Given the description of an element on the screen output the (x, y) to click on. 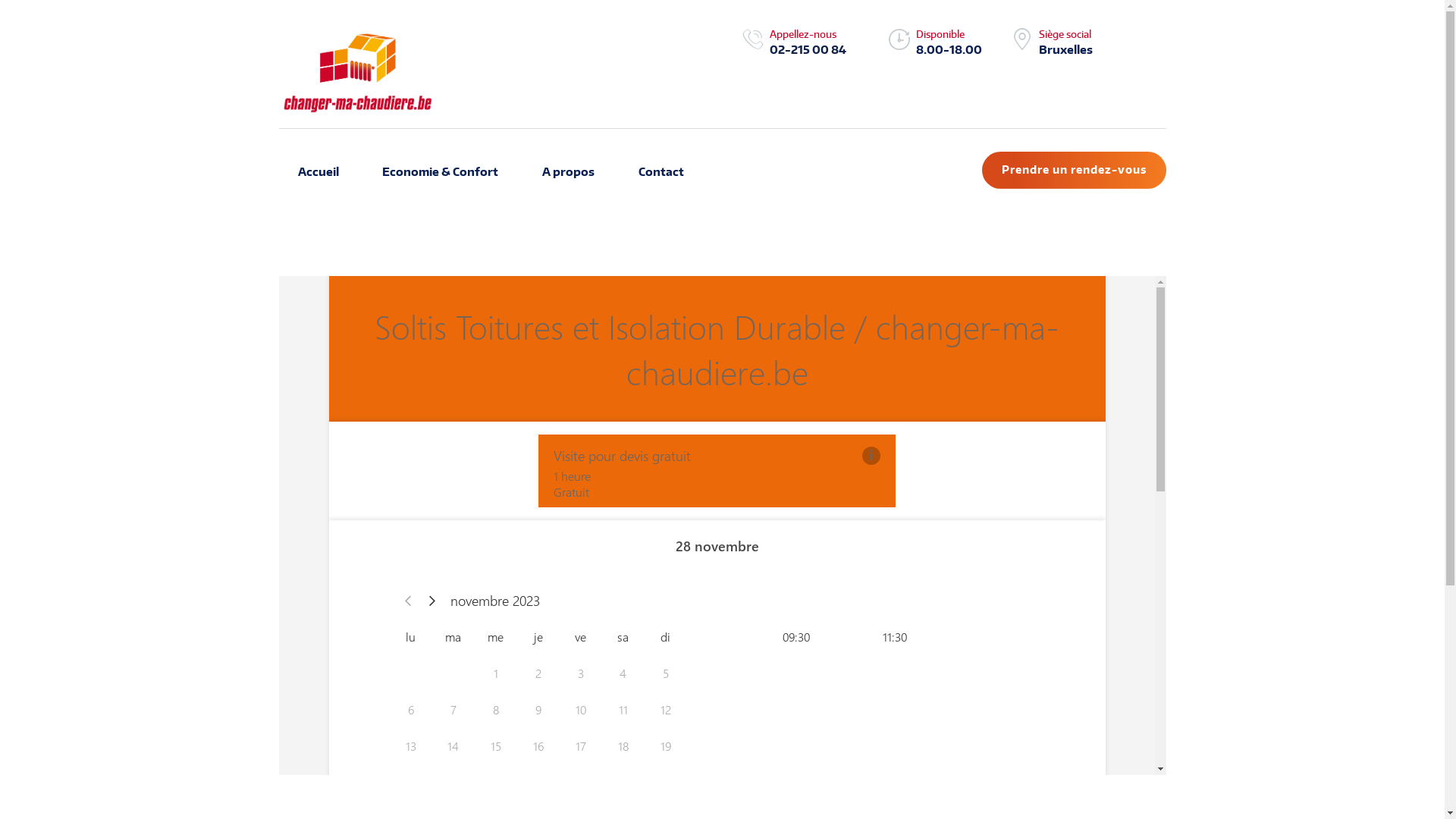
Economie & Confort Element type: text (440, 171)
Contact Element type: text (660, 171)
02-215 00 84 Element type: text (807, 48)
A propos Element type: text (568, 171)
Prendre un rendez-vous Element type: text (1074, 169)
Accueil Element type: text (318, 171)
